Given the description of an element on the screen output the (x, y) to click on. 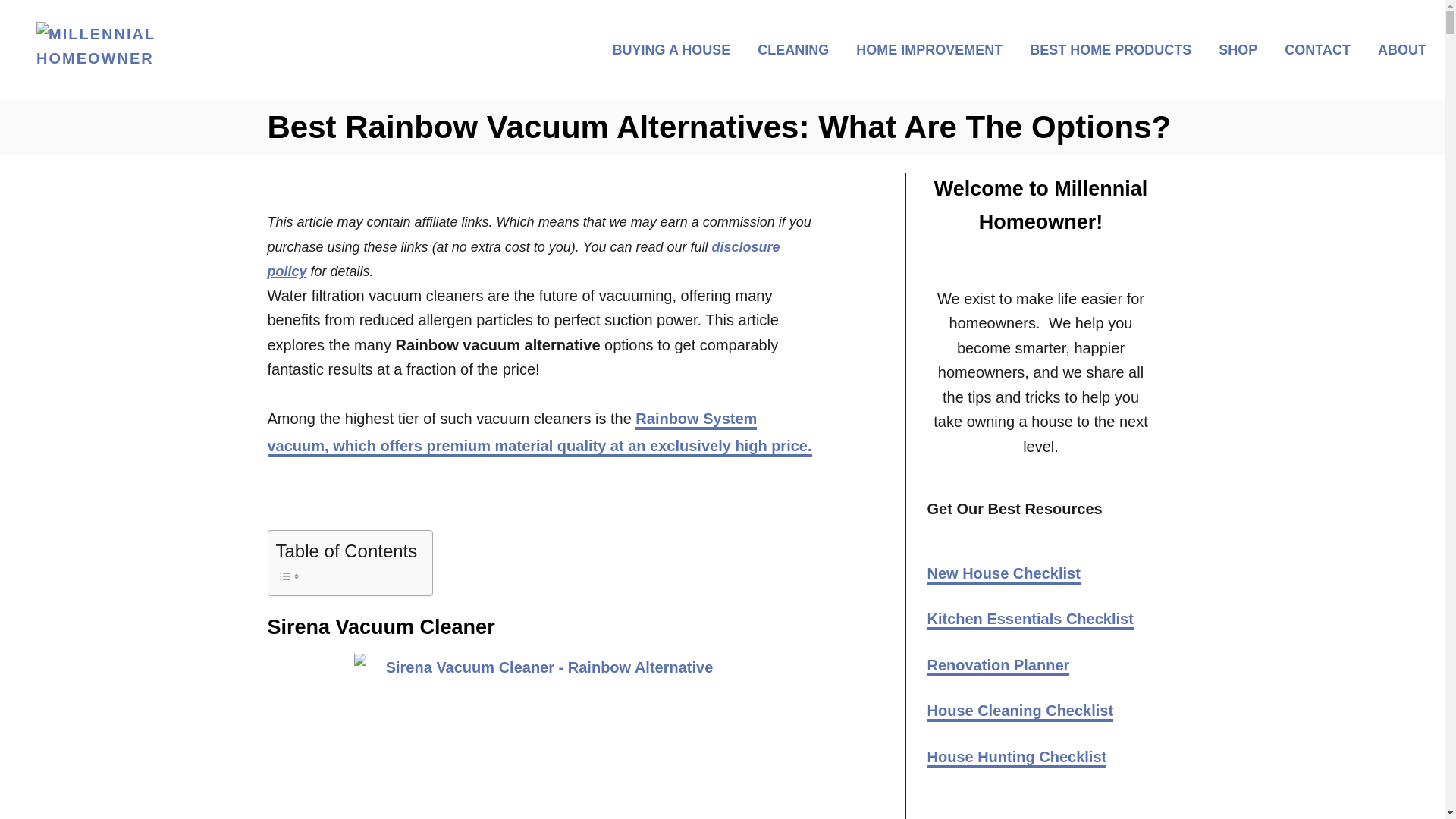
SHOP (1242, 49)
CLEANING (797, 49)
disclosure policy (522, 259)
Millennial Homeowner (202, 49)
BUYING A HOUSE (676, 49)
HOME IMPROVEMENT (933, 49)
CONTACT (1321, 49)
BEST HOME PRODUCTS (1114, 49)
ABOUT (1397, 49)
